Given the description of an element on the screen output the (x, y) to click on. 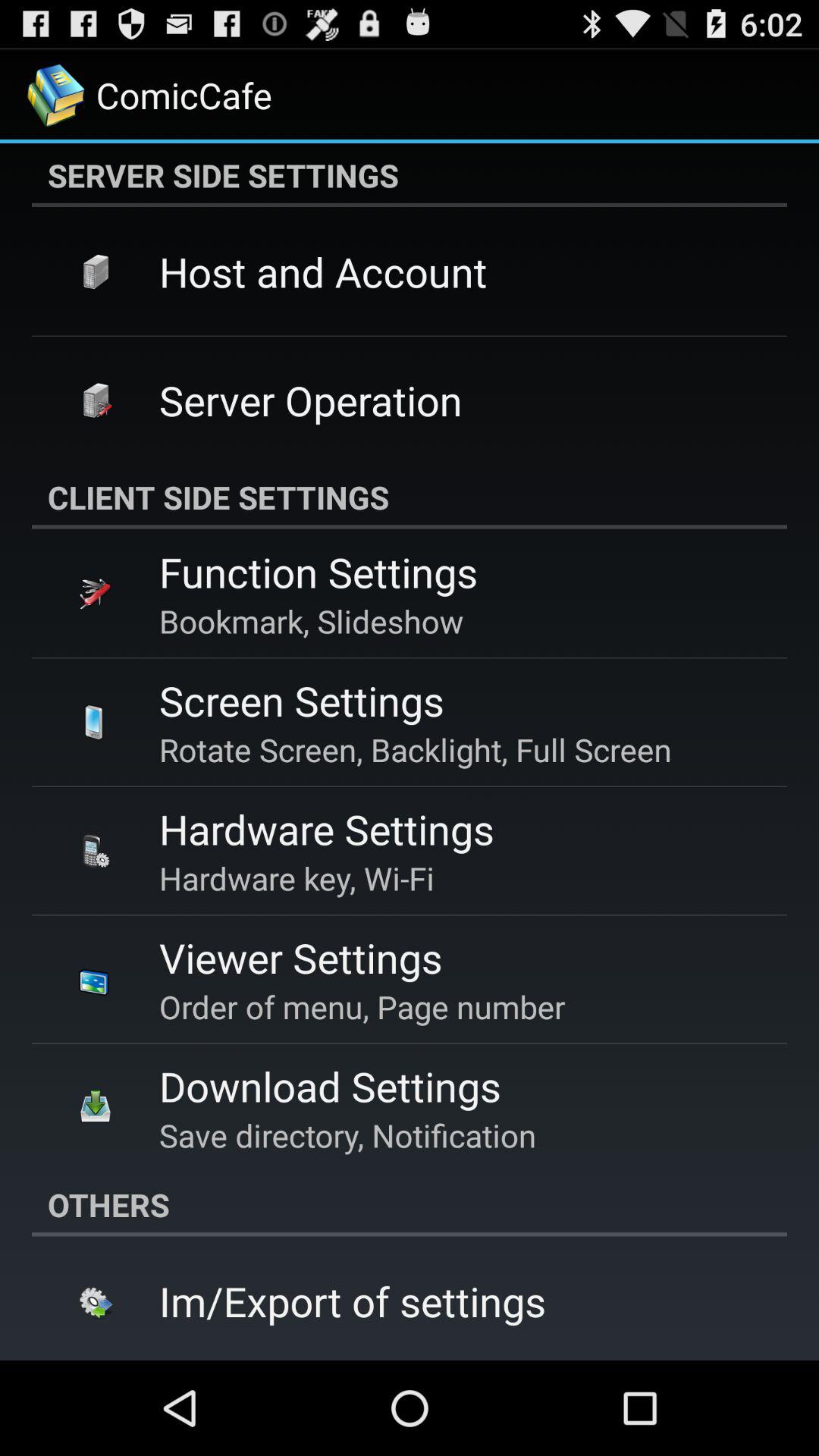
scroll to the server operation icon (310, 399)
